Given the description of an element on the screen output the (x, y) to click on. 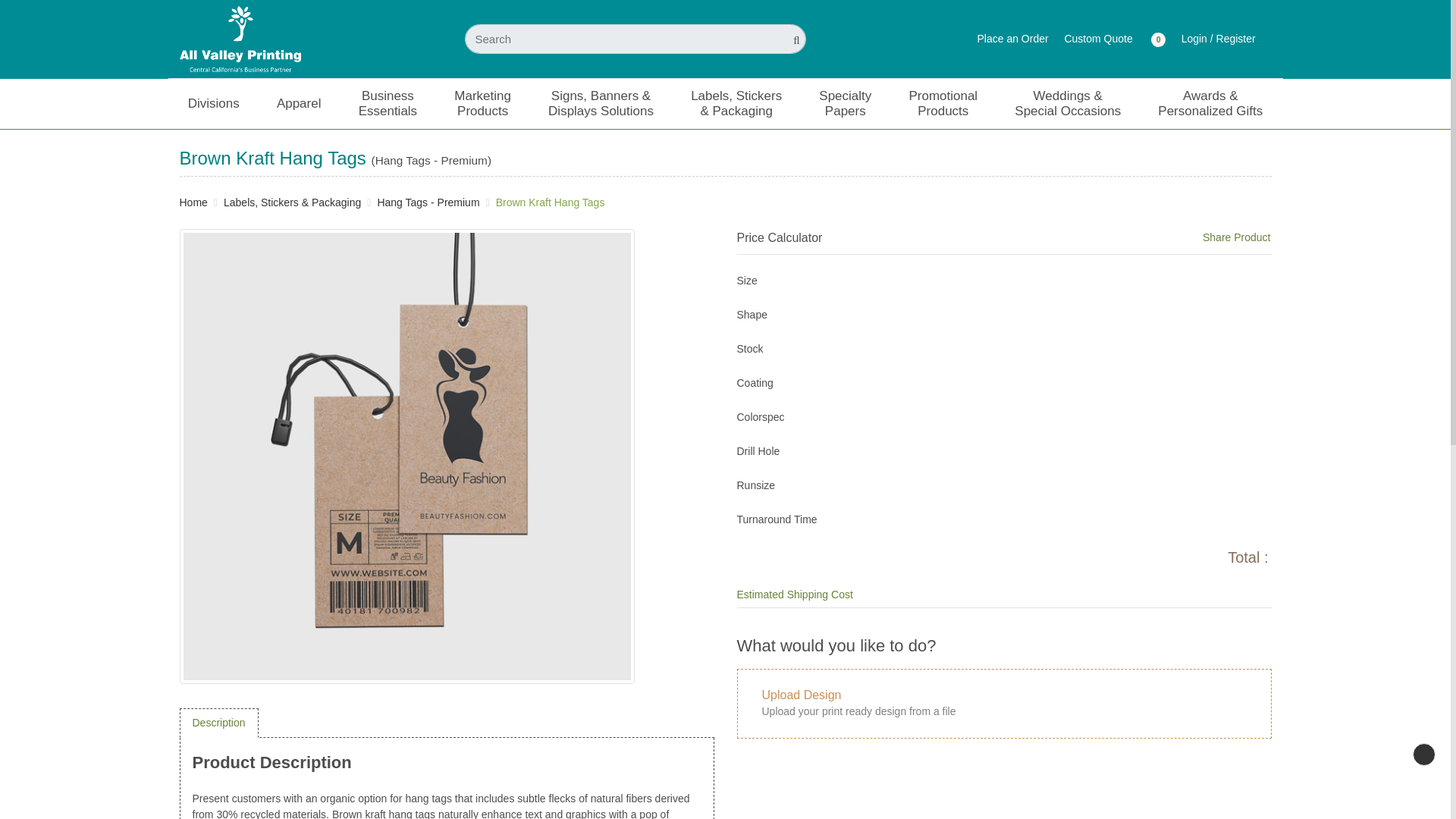
Divisions (213, 103)
Custom Quote (1098, 38)
Apparel (298, 103)
Place an Order (1012, 38)
 0 (1155, 38)
